Given the description of an element on the screen output the (x, y) to click on. 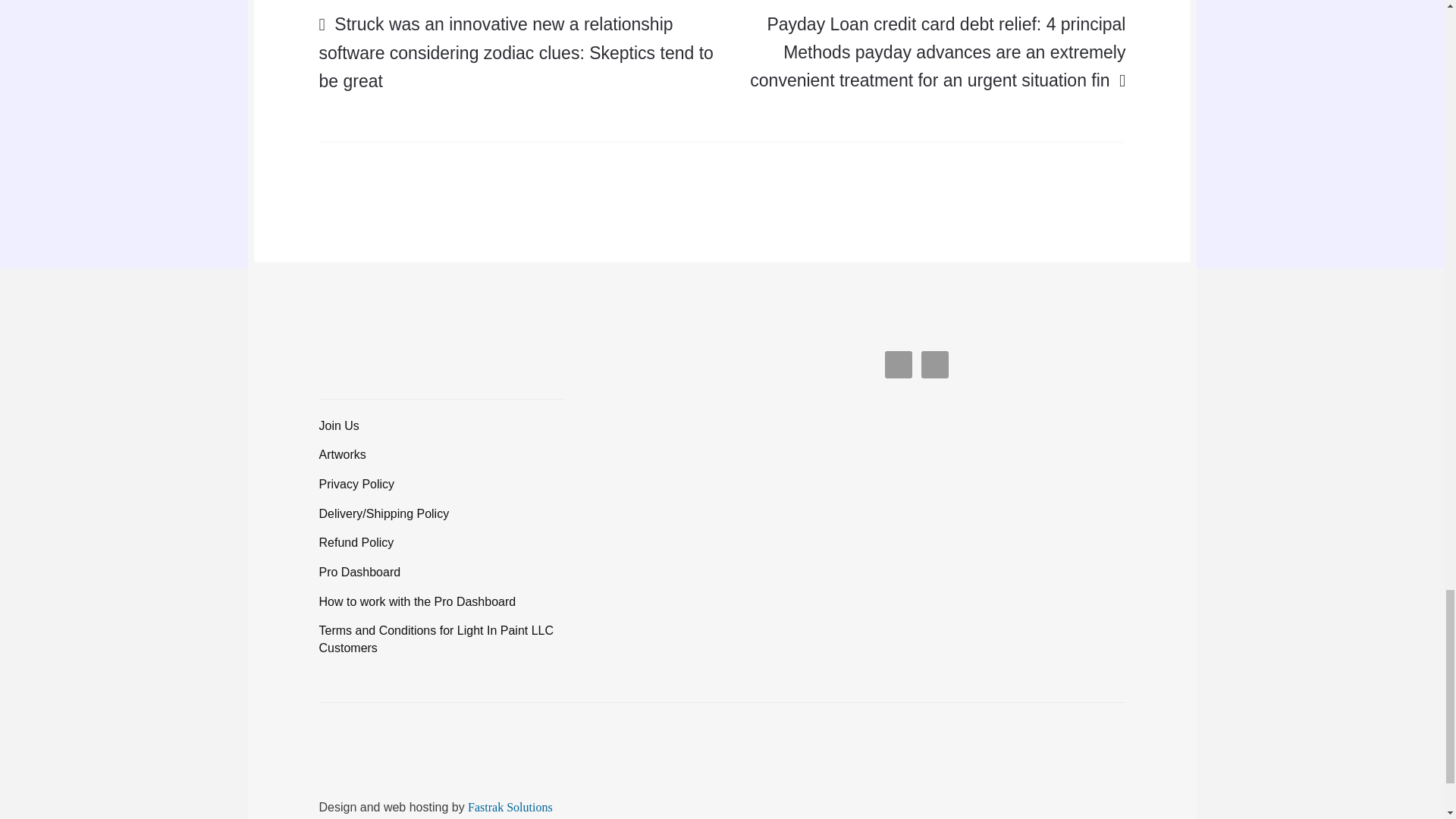
Privacy Policy (356, 483)
Join Us (338, 425)
Artworks (342, 454)
